Given the description of an element on the screen output the (x, y) to click on. 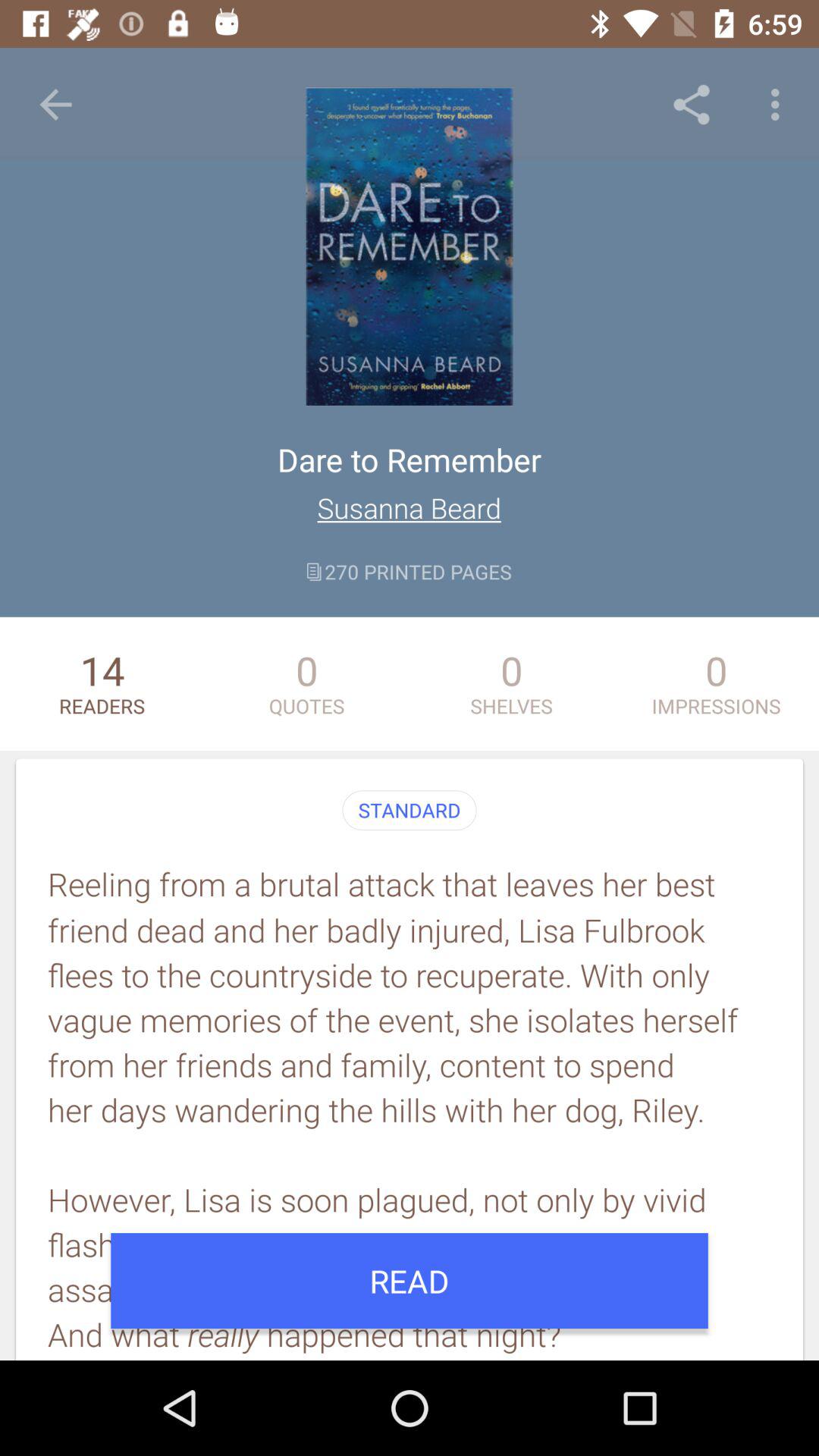
press item above the 270 printed pages item (408, 507)
